Given the description of an element on the screen output the (x, y) to click on. 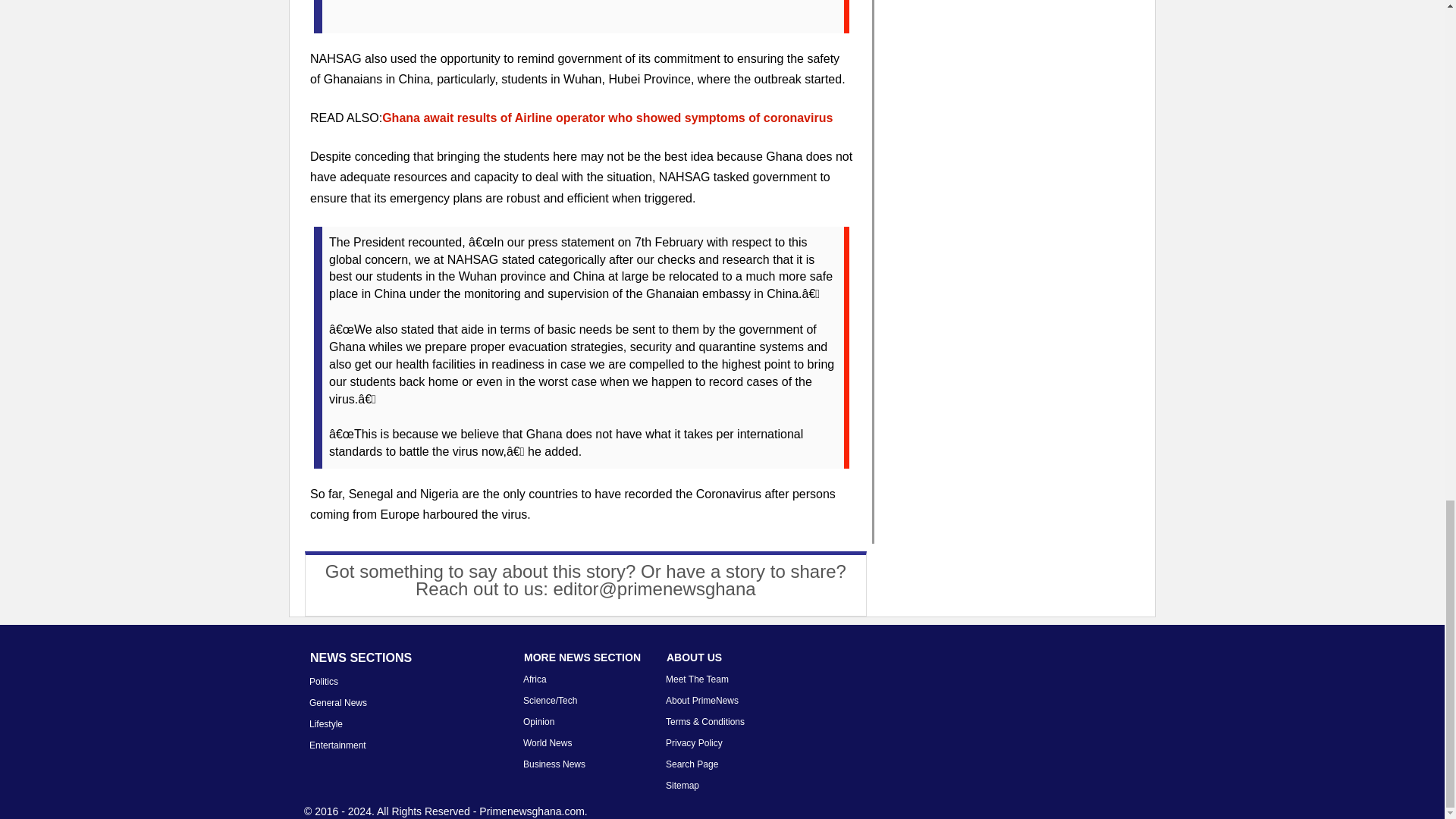
Politics (322, 681)
